Given the description of an element on the screen output the (x, y) to click on. 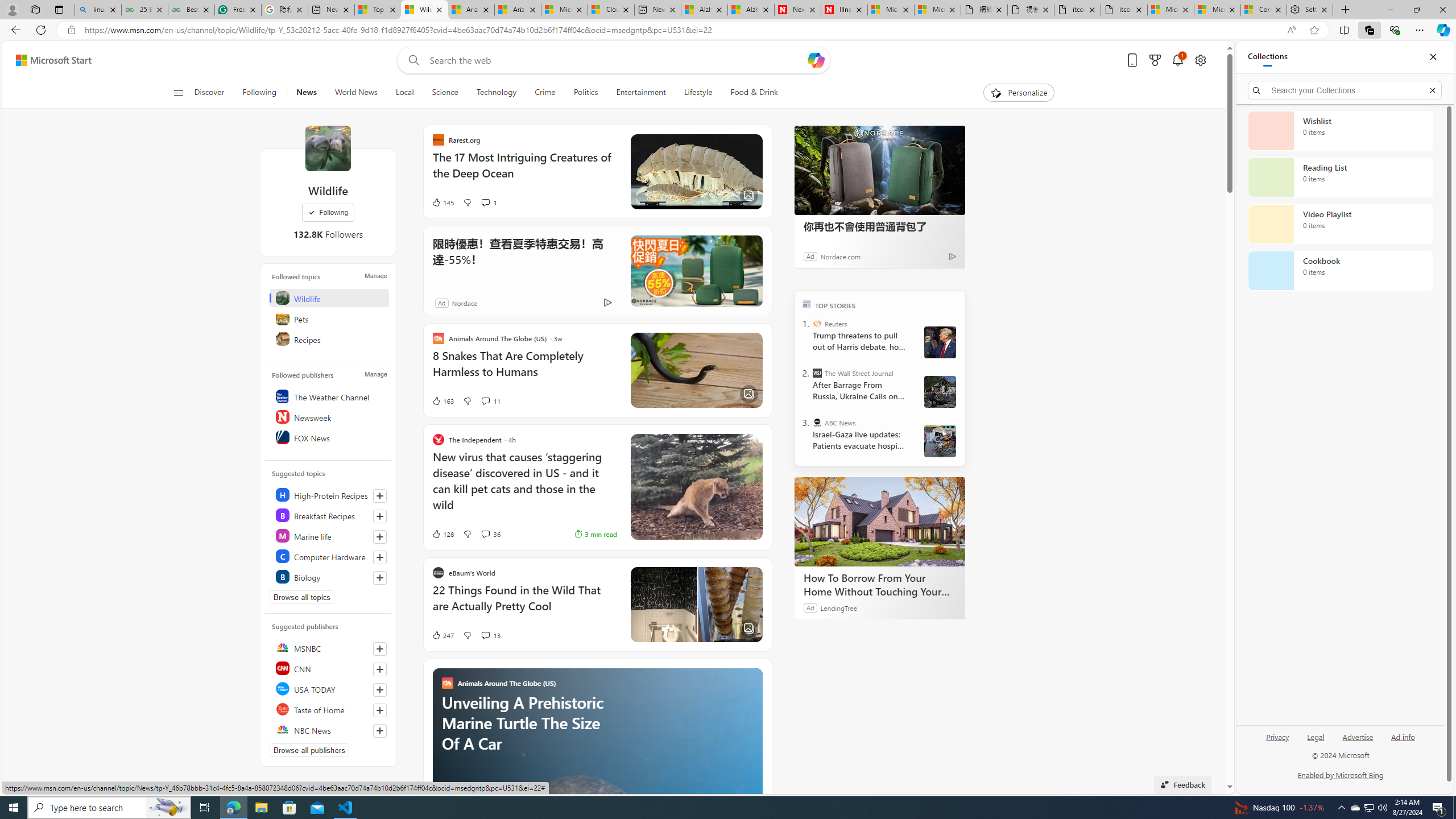
Wishlist collection, 0 items (1339, 130)
Best SSL Certificates Provider in India - GeeksforGeeks (191, 9)
FOX News (328, 437)
145 Like (442, 202)
Follow this source (379, 730)
View comments 36 Comment (485, 533)
